Given the description of an element on the screen output the (x, y) to click on. 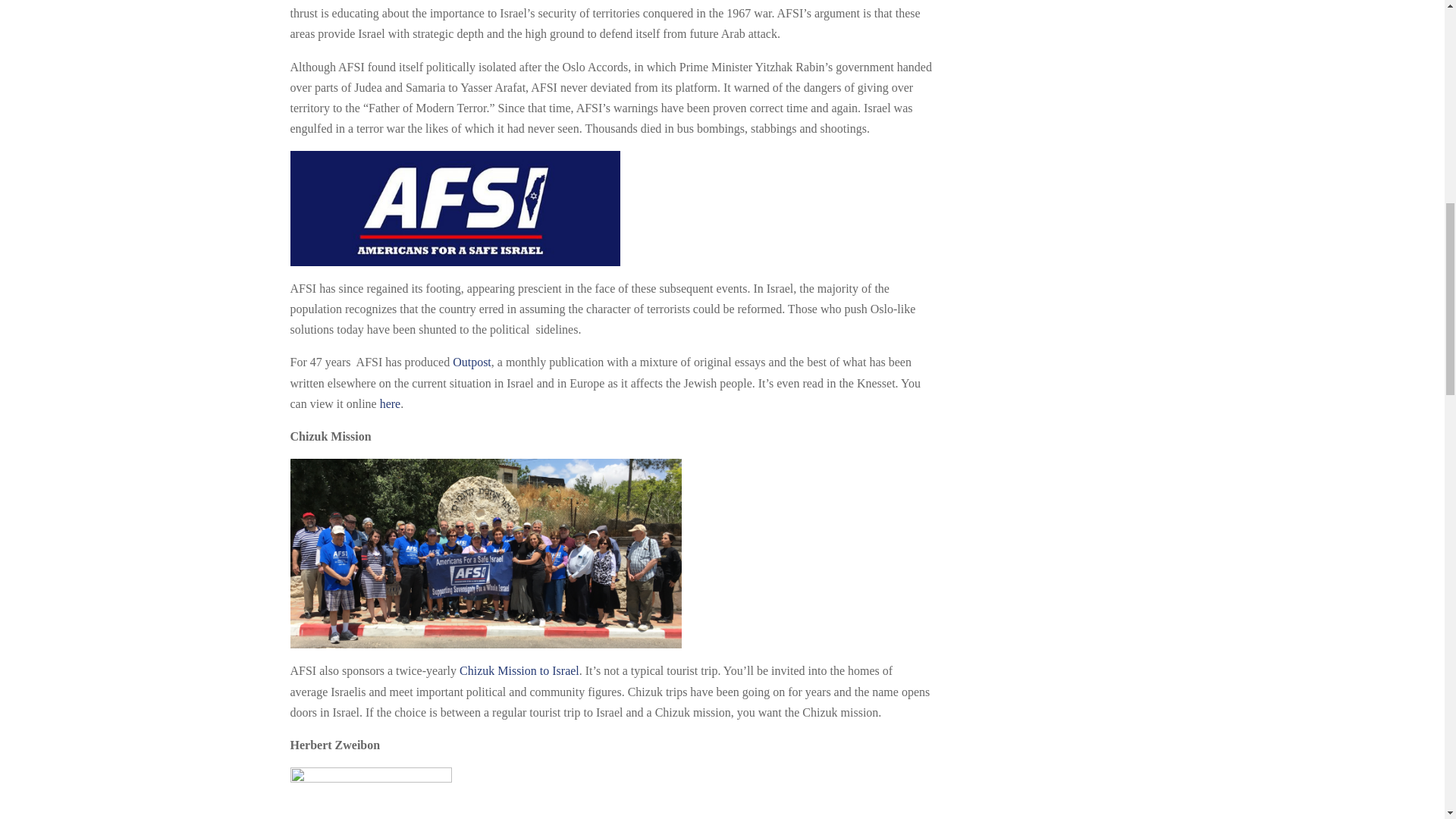
Chizuk Mission to Israel (519, 670)
Outpost (472, 361)
here (390, 403)
